Given the description of an element on the screen output the (x, y) to click on. 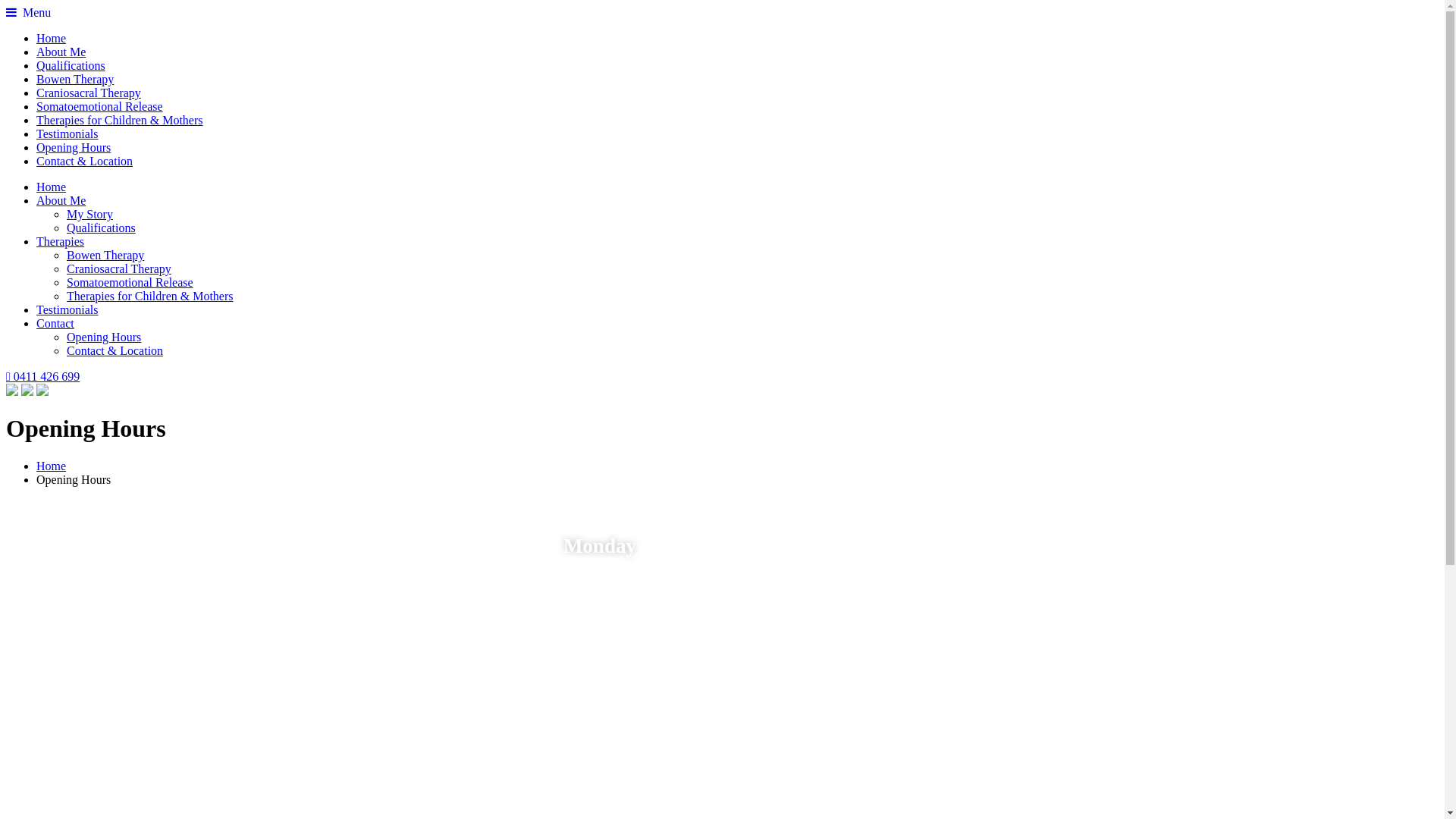
Home Element type: text (50, 465)
Home Element type: text (50, 37)
Contact & Location Element type: text (84, 160)
Testimonials Element type: text (67, 309)
About Me Element type: text (60, 51)
Craniosacral Therapy Element type: text (118, 268)
 Menu Element type: text (28, 12)
Therapies for Children & Mothers Element type: text (149, 295)
Qualifications Element type: text (70, 65)
Testimonials Element type: text (67, 133)
Qualifications Element type: text (100, 227)
Therapies for Children & Mothers Element type: text (119, 119)
Contact Element type: text (55, 322)
Therapies Element type: text (60, 241)
Craniosacral Therapy Element type: text (88, 92)
0411 426 699 Element type: text (42, 376)
Somatoemotional Release Element type: text (99, 106)
Contact & Location Element type: text (114, 350)
Opening Hours Element type: text (73, 147)
Somatoemotional Release Element type: text (129, 282)
Bowen Therapy Element type: text (74, 78)
My Story Element type: text (89, 213)
About Me Element type: text (60, 200)
Bowen Therapy Element type: text (105, 254)
Opening Hours Element type: text (103, 336)
Home Element type: text (50, 186)
